Given the description of an element on the screen output the (x, y) to click on. 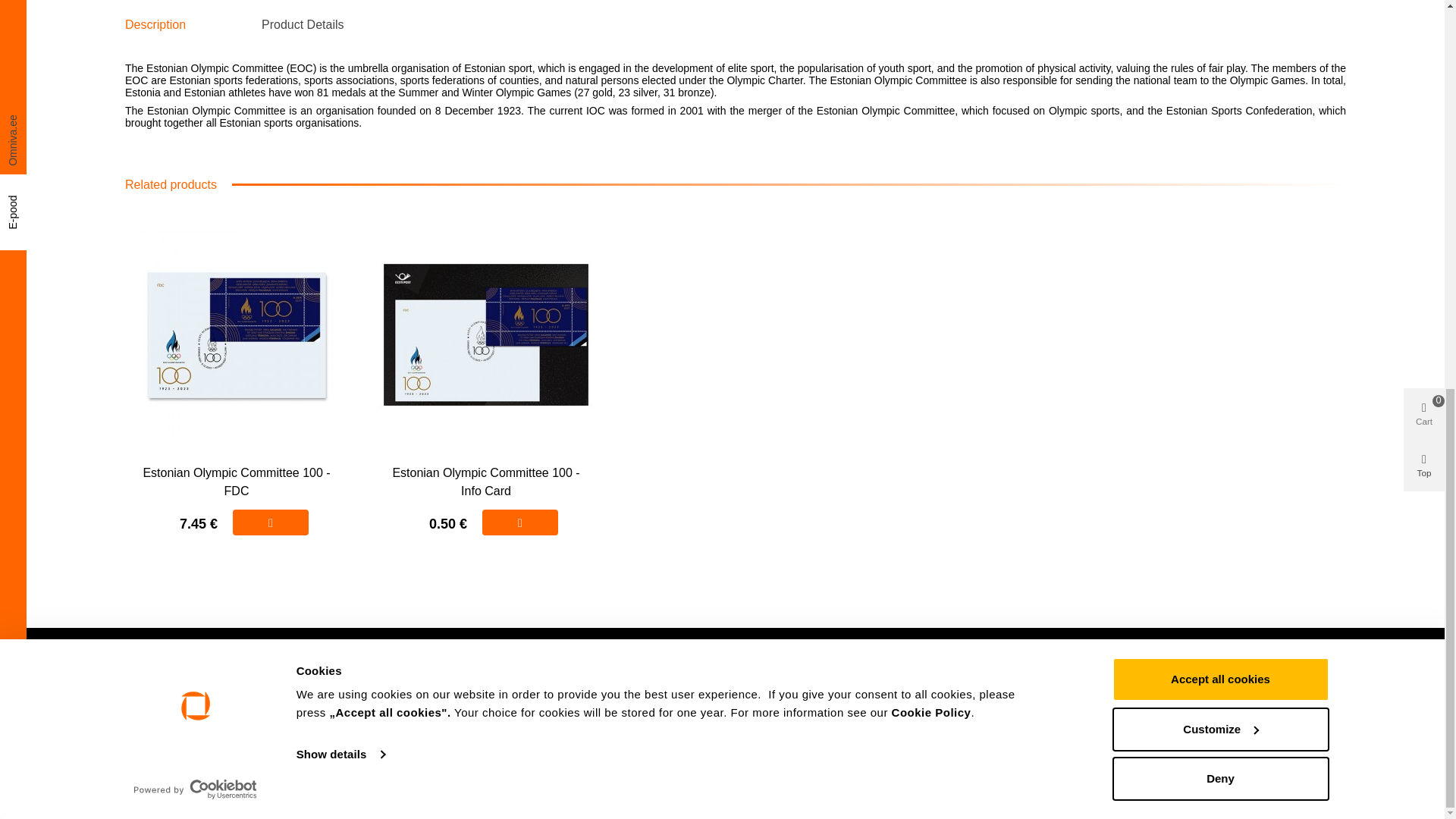
Show details (340, 15)
Customize (1219, 5)
Deny (1219, 39)
